Given the description of an element on the screen output the (x, y) to click on. 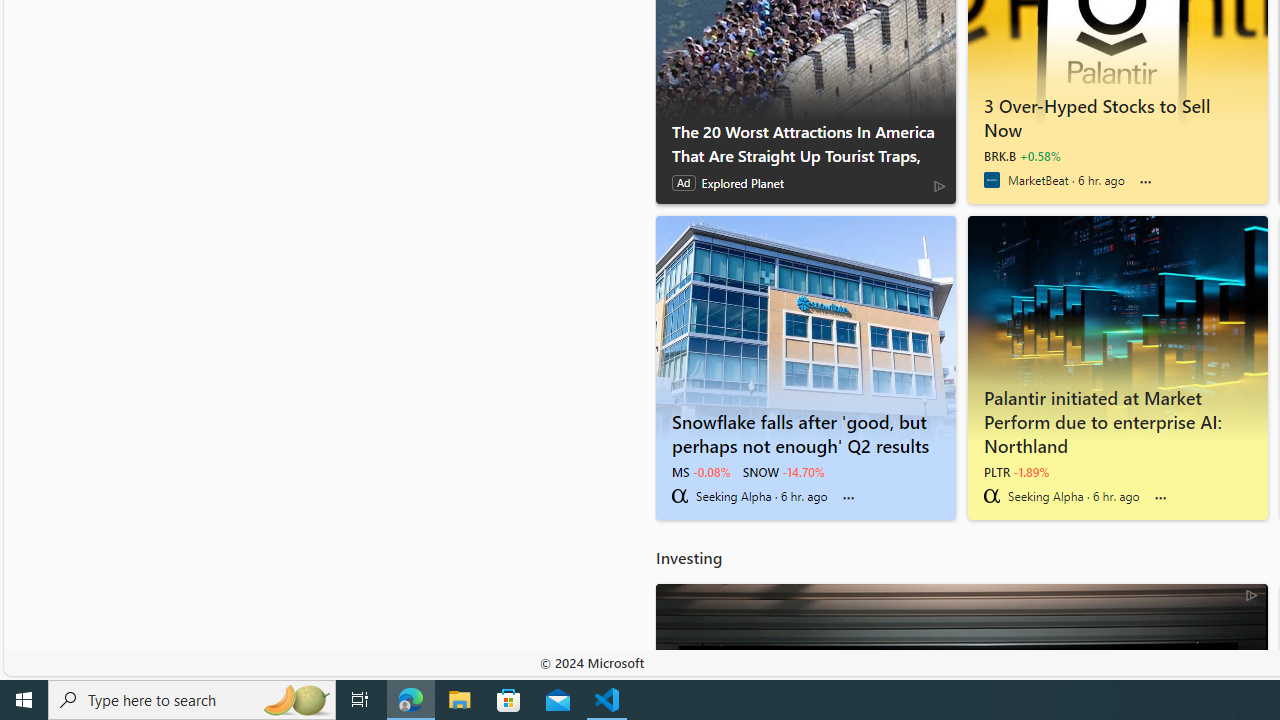
BRK.B +0.58% (1022, 156)
AdChoices (1251, 593)
MarketBeat (991, 179)
